Given the description of an element on the screen output the (x, y) to click on. 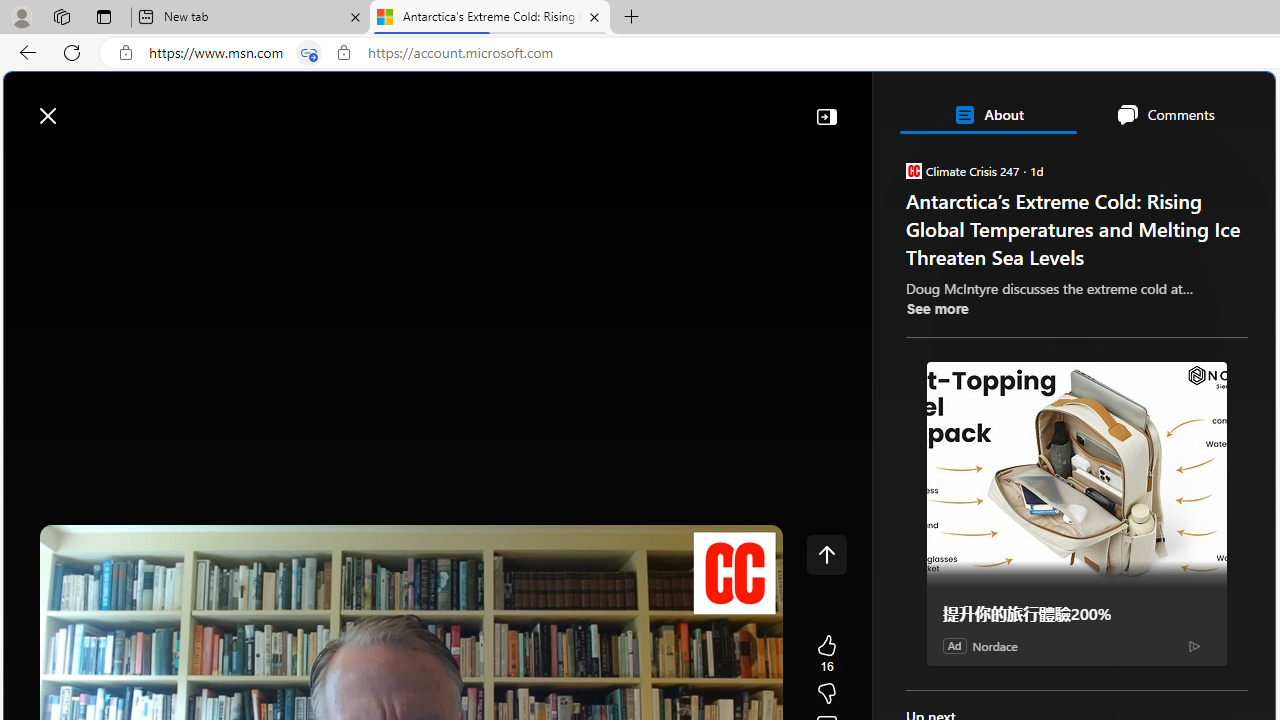
Enter your search term (644, 106)
